Given the description of an element on the screen output the (x, y) to click on. 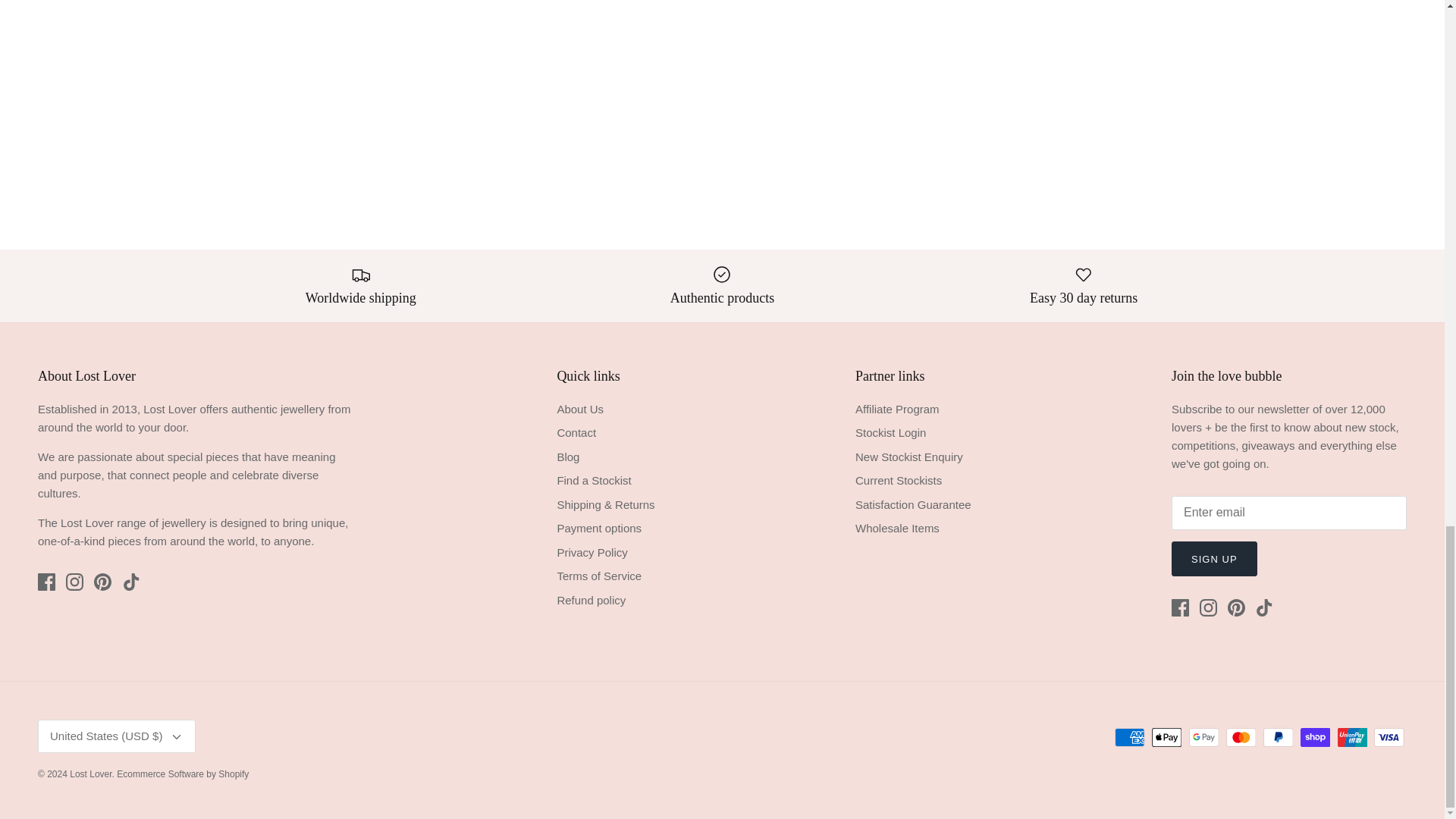
Facebook (1180, 607)
Instagram (73, 581)
Instagram (1208, 607)
Pinterest (103, 581)
Facebook (46, 581)
